Given the description of an element on the screen output the (x, y) to click on. 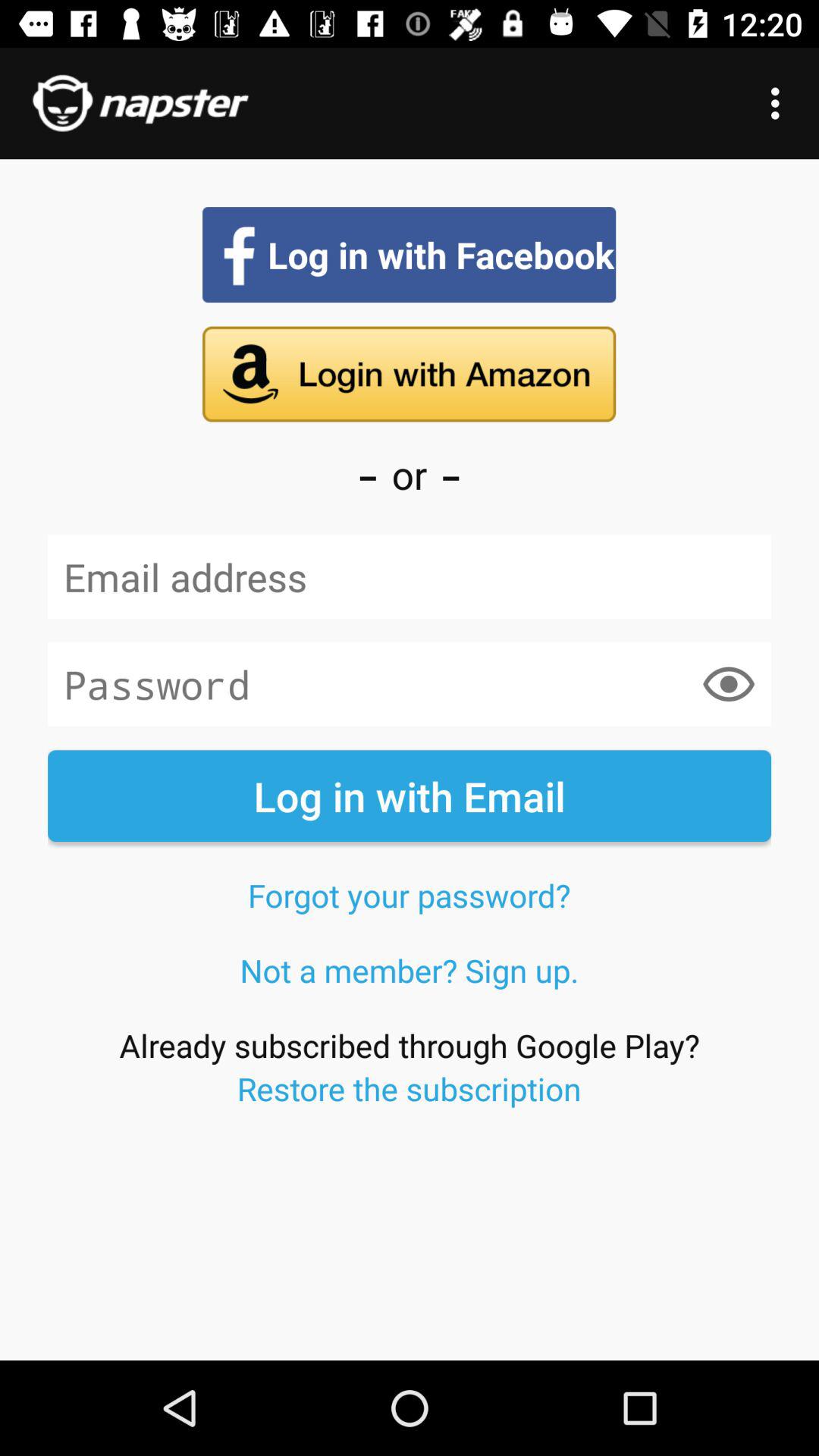
choose the item below the or icon (409, 576)
